Given the description of an element on the screen output the (x, y) to click on. 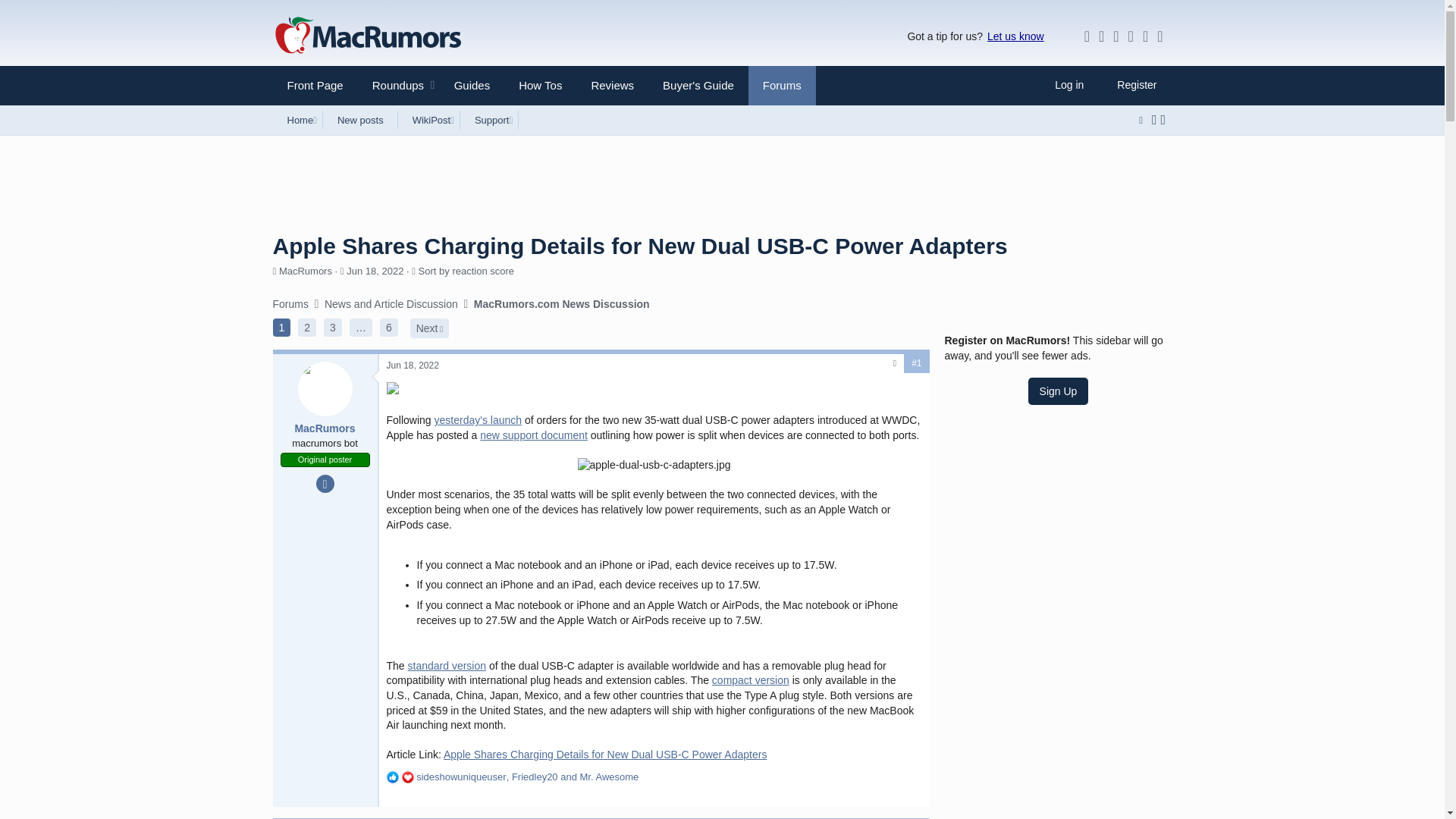
Roundups (392, 85)
Front Page (315, 85)
Let us know (1014, 36)
